Given the description of an element on the screen output the (x, y) to click on. 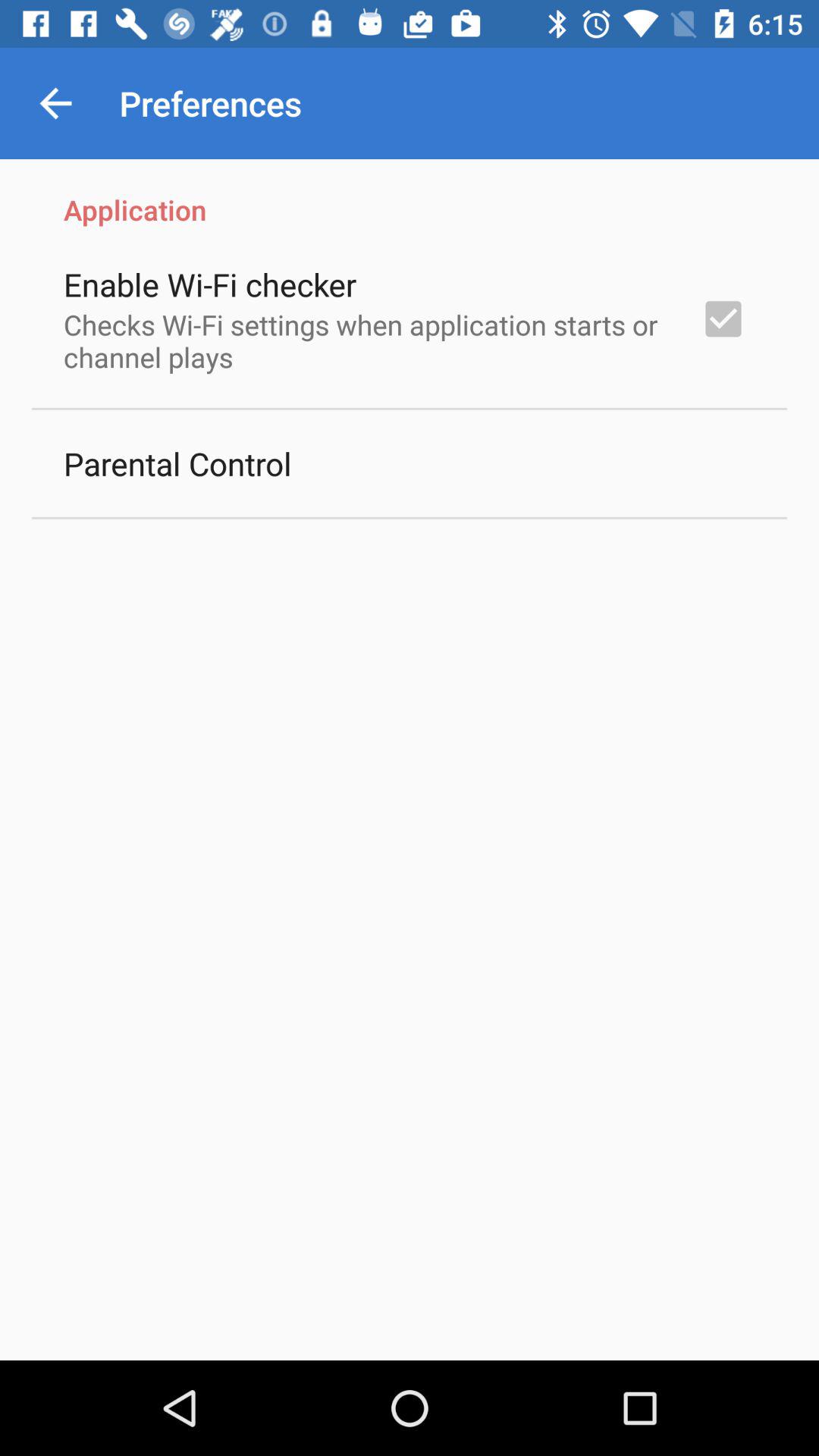
swipe to the parental control item (177, 463)
